Given the description of an element on the screen output the (x, y) to click on. 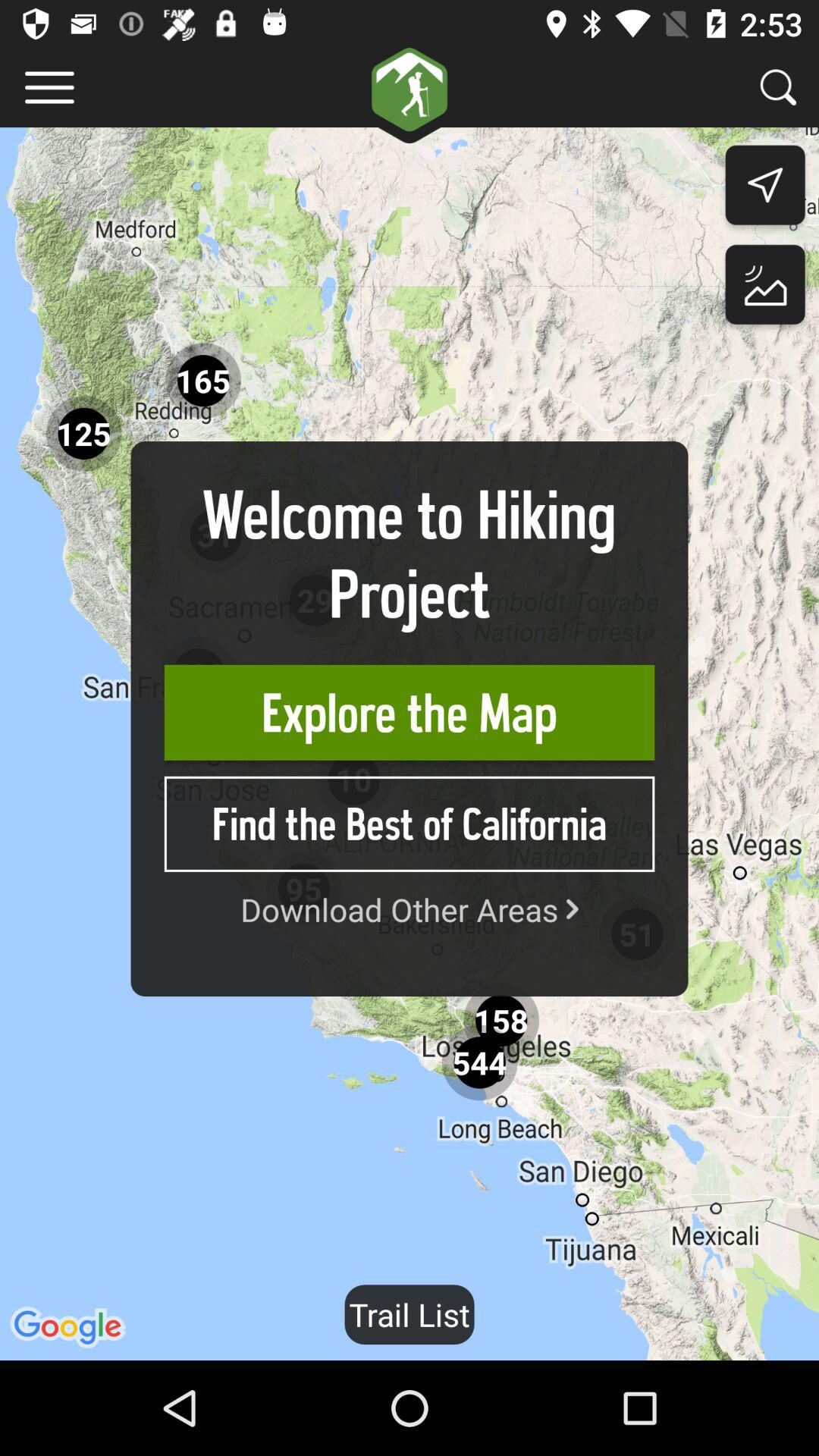
menu (49, 87)
